Given the description of an element on the screen output the (x, y) to click on. 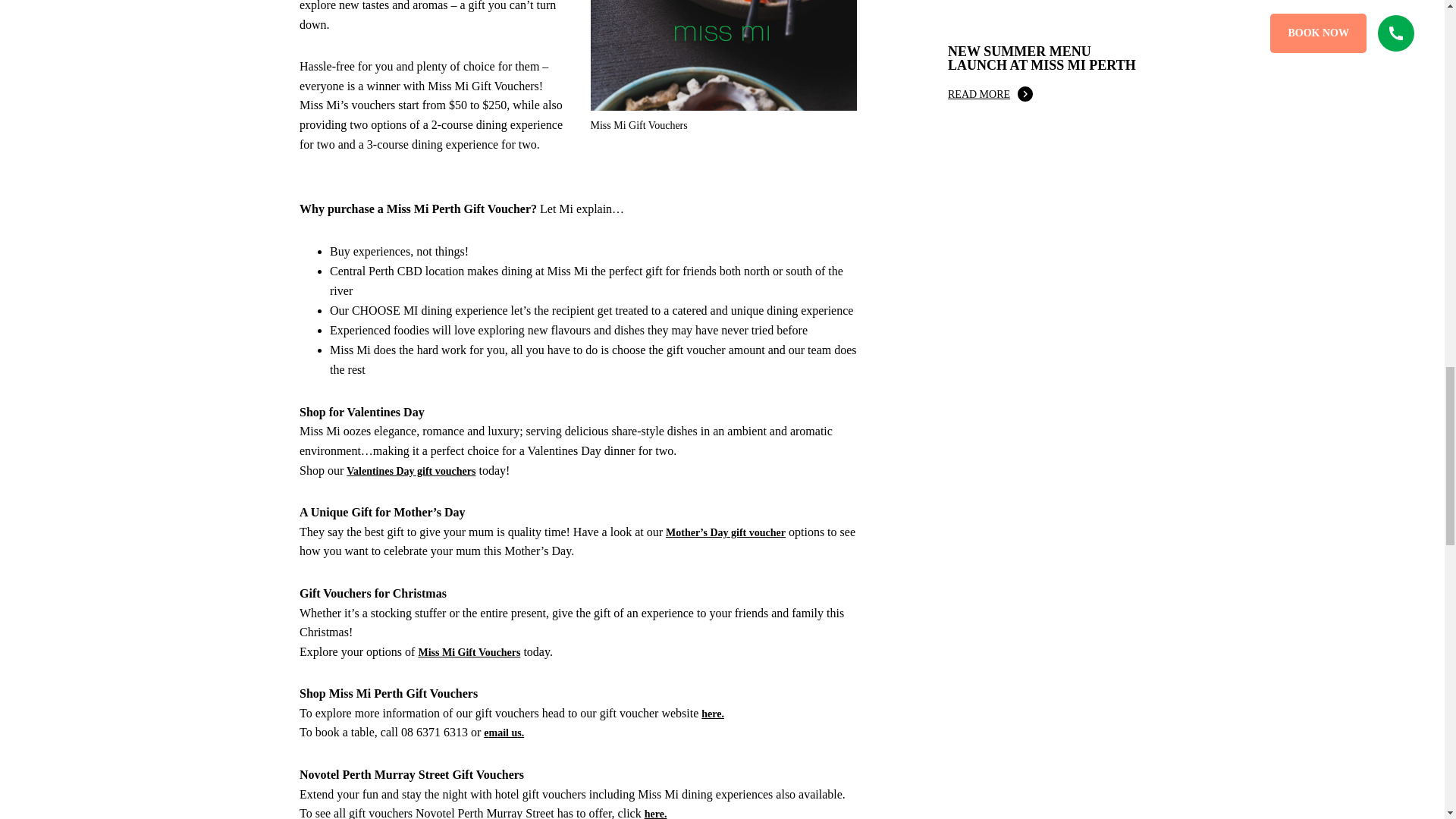
here. (655, 813)
Miss Mi Gift Vouchers (468, 652)
mail u (501, 732)
Valentines Day gift vouchers (411, 471)
here. (712, 713)
